Given the description of an element on the screen output the (x, y) to click on. 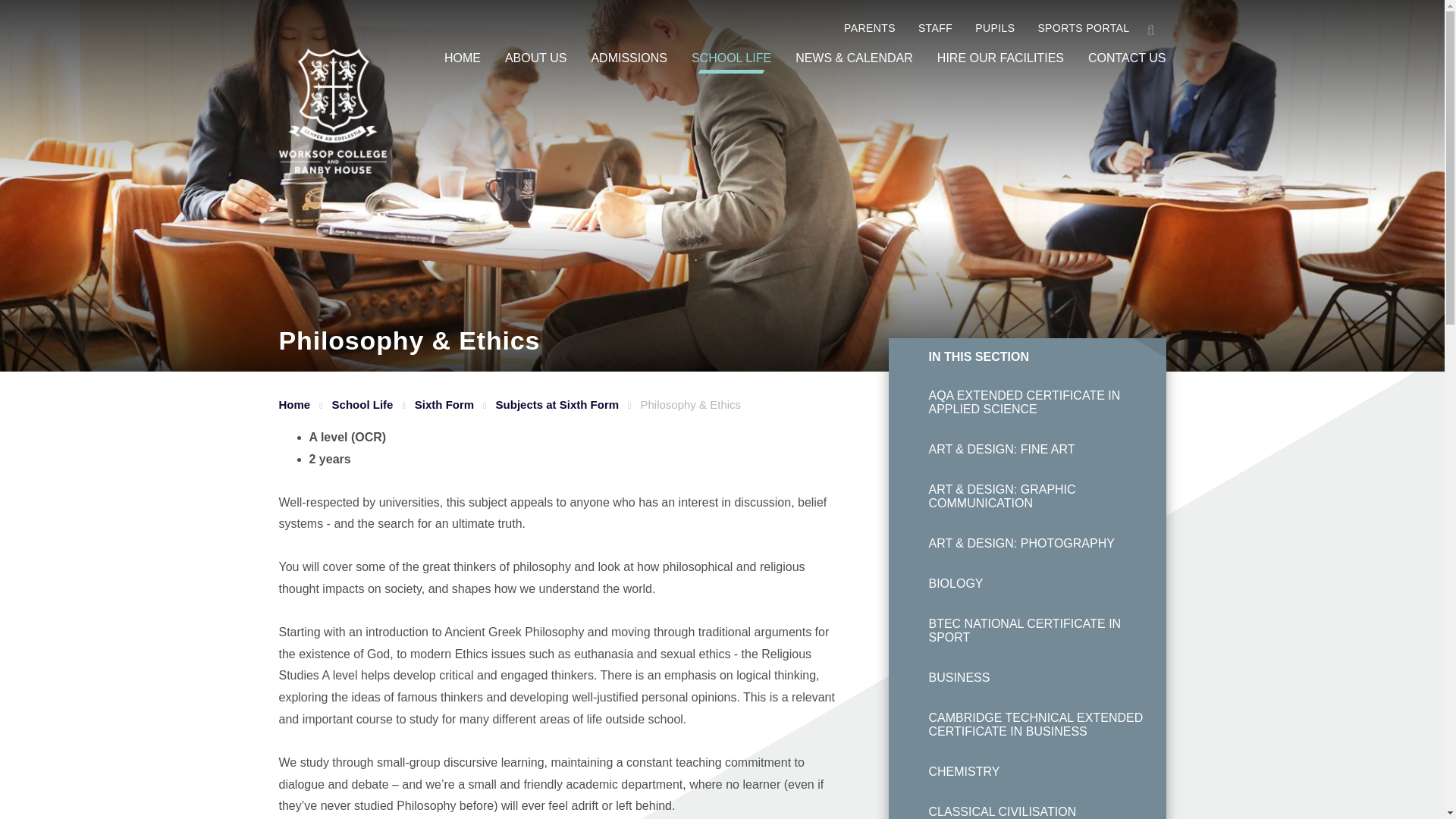
Parents (858, 28)
ADMISSIONS (628, 58)
Sports Portal (1071, 28)
Staff (923, 28)
HOME (462, 58)
Pupils (983, 28)
ABOUT US (536, 58)
